Given the description of an element on the screen output the (x, y) to click on. 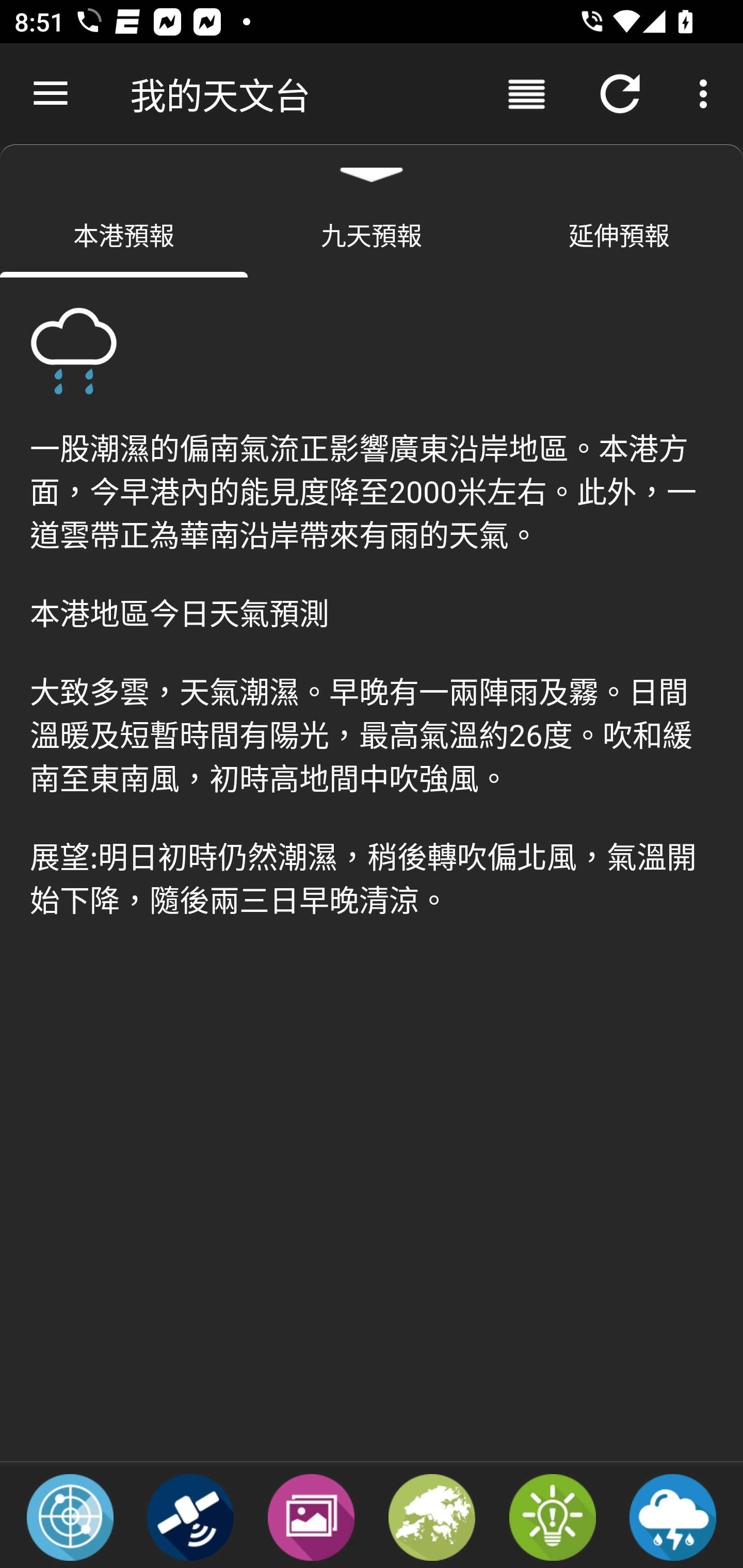
向上瀏覽 (50, 93)
直向佈局 (525, 93)
重新整理 (619, 93)
更多選項 (706, 93)
隱藏 (371, 167)
九天預報 (371, 234)
延伸預報 (619, 234)
雷達圖像 (69, 1516)
衛星圖像 (190, 1516)
天氣照片 (310, 1516)
分區天氣 (431, 1516)
天氣提示 (551, 1516)
定點降雨及閃電預報 (672, 1516)
